Given the description of an element on the screen output the (x, y) to click on. 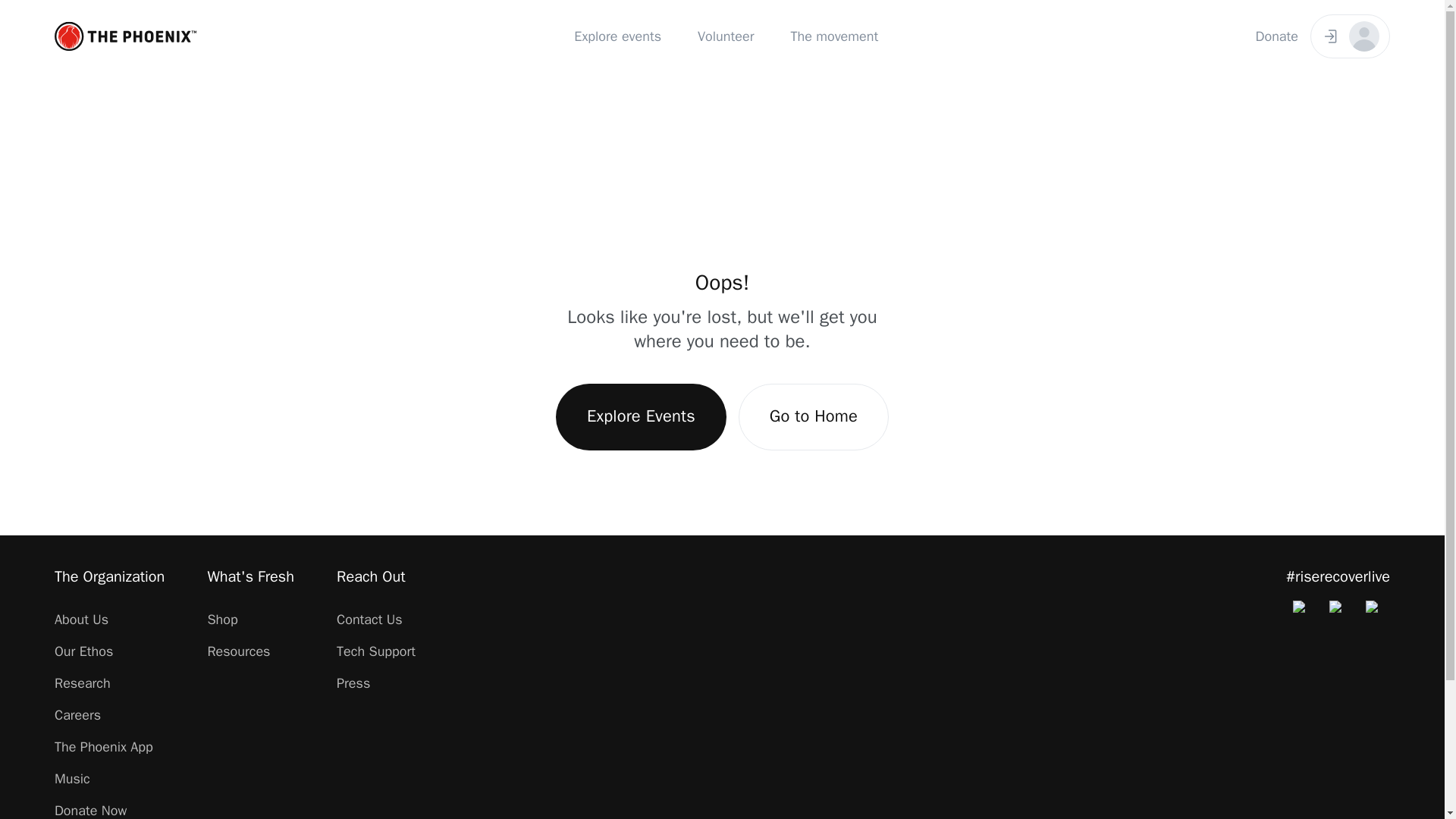
Research (82, 682)
Explore Events (641, 417)
Volunteer (725, 35)
Explore events (617, 35)
Careers (77, 714)
Our Ethos (84, 651)
About Us (81, 619)
Press (352, 682)
Contact Us (369, 619)
Shop (221, 619)
